Given the description of an element on the screen output the (x, y) to click on. 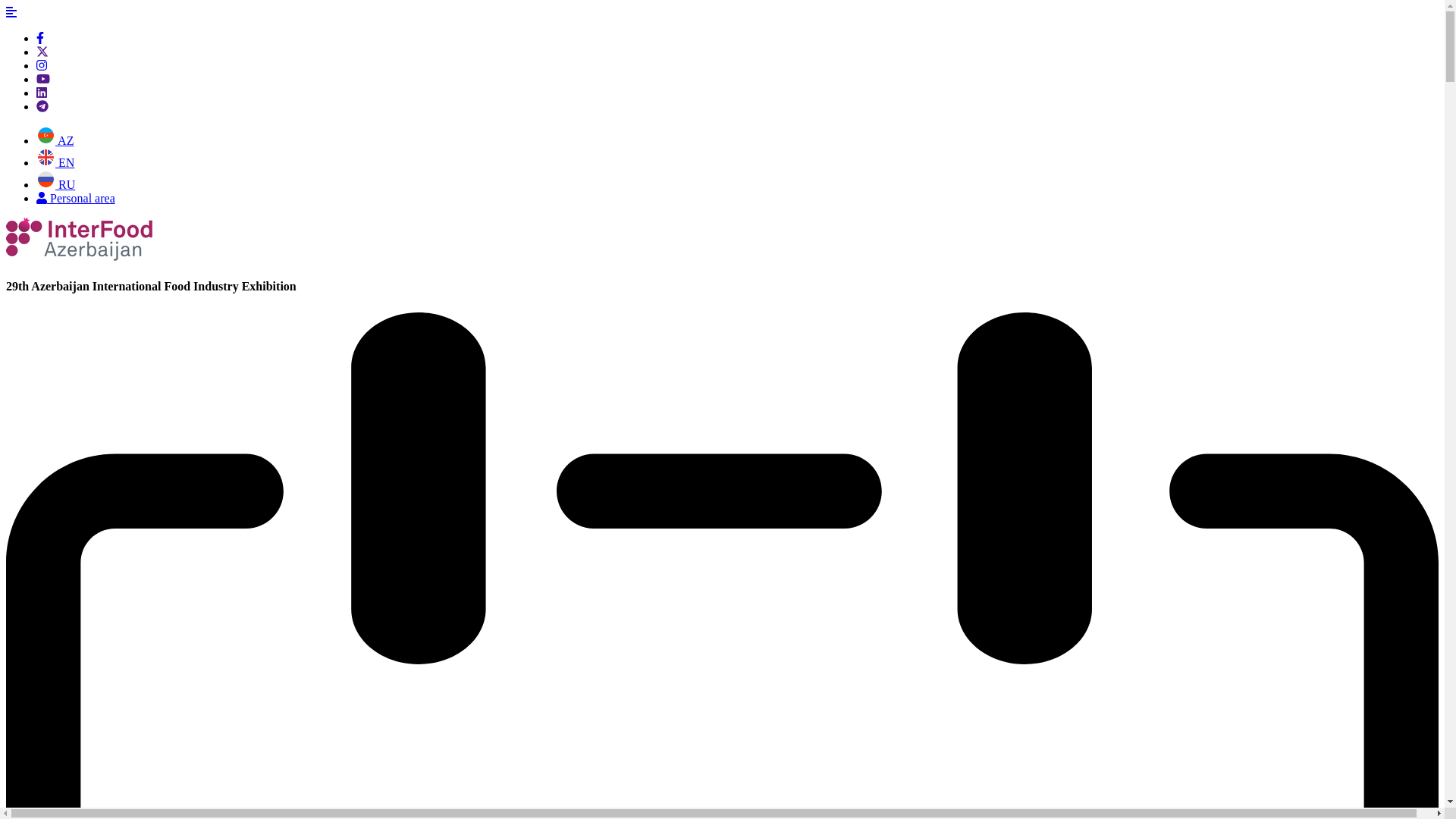
AZ Element type: text (54, 140)
Personal area Element type: text (75, 197)
RU Element type: text (55, 184)
EN Element type: text (55, 162)
